Given the description of an element on the screen output the (x, y) to click on. 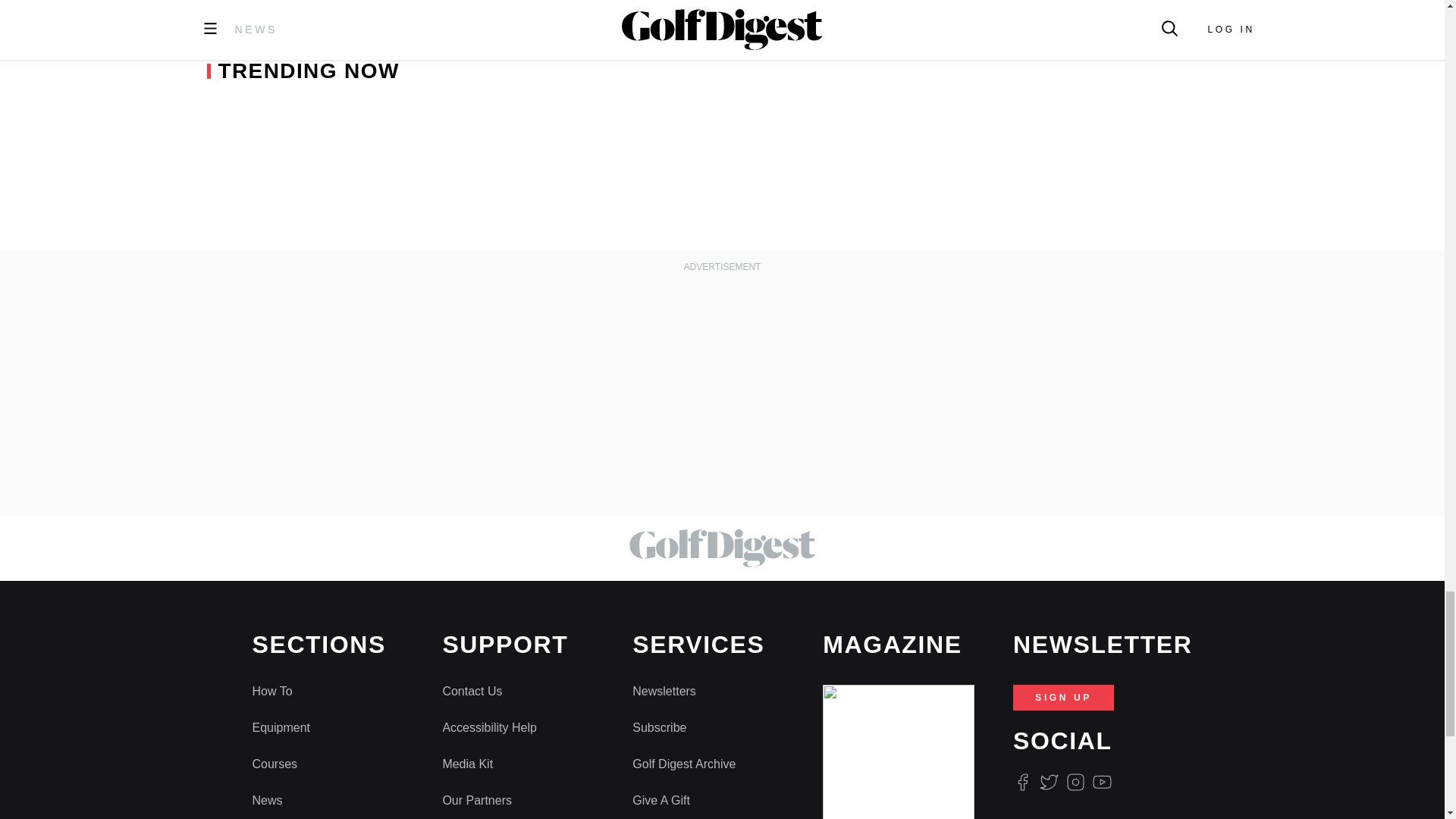
Youtube Icon (1102, 782)
Instagram Logo (1074, 782)
Facebook Logo (1022, 782)
Twitter Logo (1048, 782)
